Given the description of an element on the screen output the (x, y) to click on. 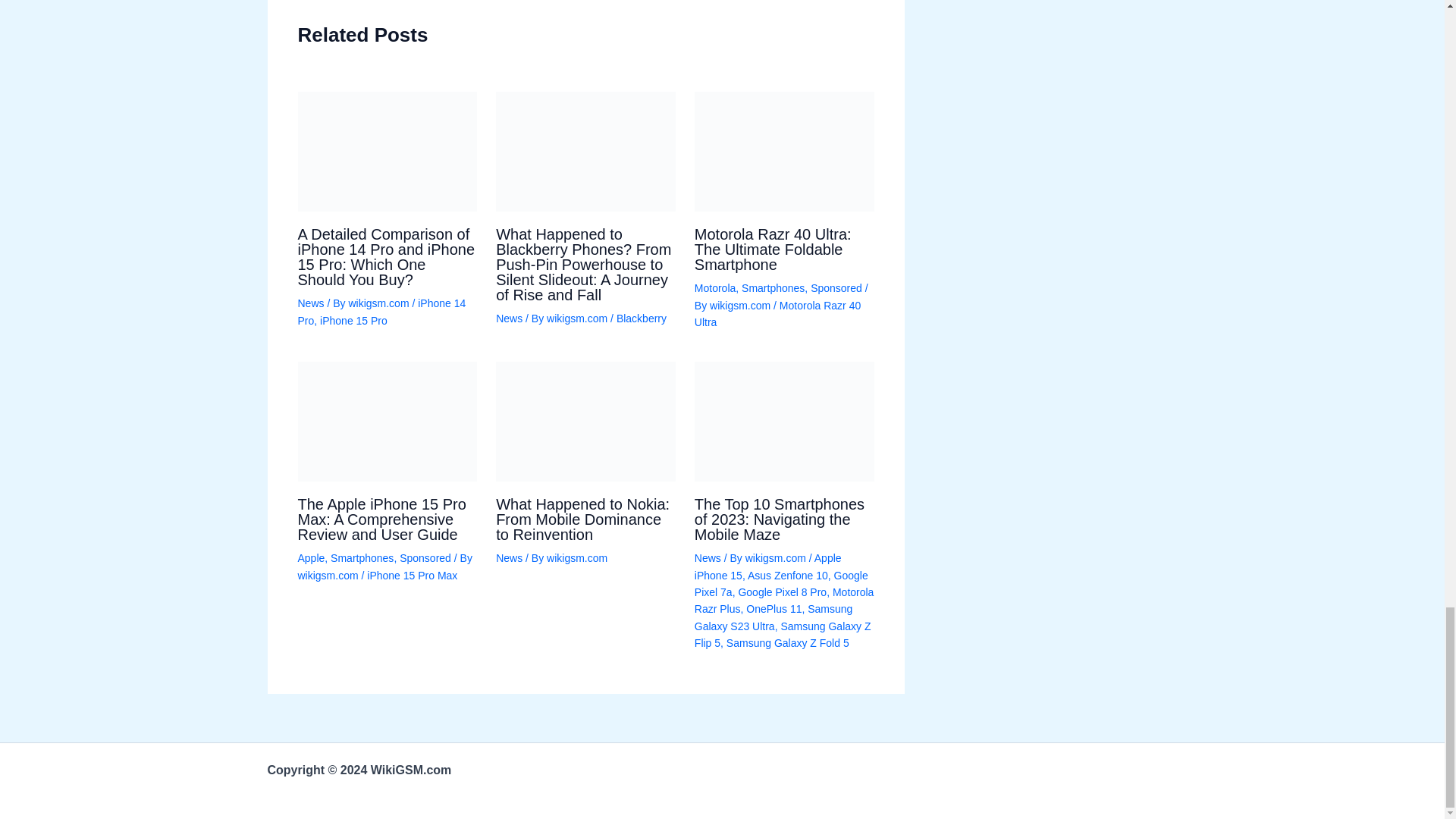
View all posts by wikigsm.com (379, 303)
View all posts by wikigsm.com (578, 318)
View all posts by wikigsm.com (741, 305)
View all posts by wikigsm.com (329, 575)
